Given the description of an element on the screen output the (x, y) to click on. 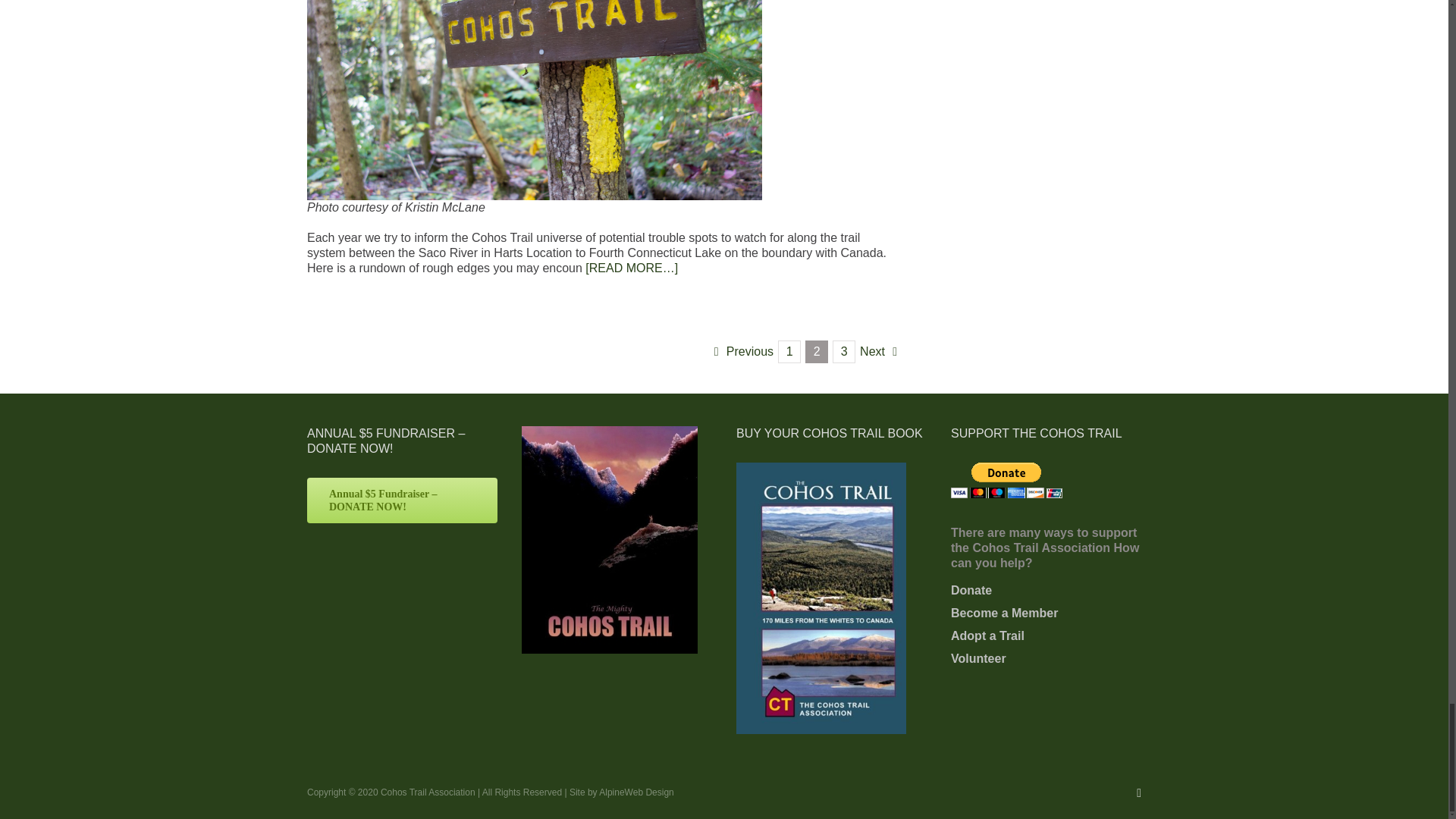
Click to Buy (820, 469)
Donate (1045, 590)
